Given the description of an element on the screen output the (x, y) to click on. 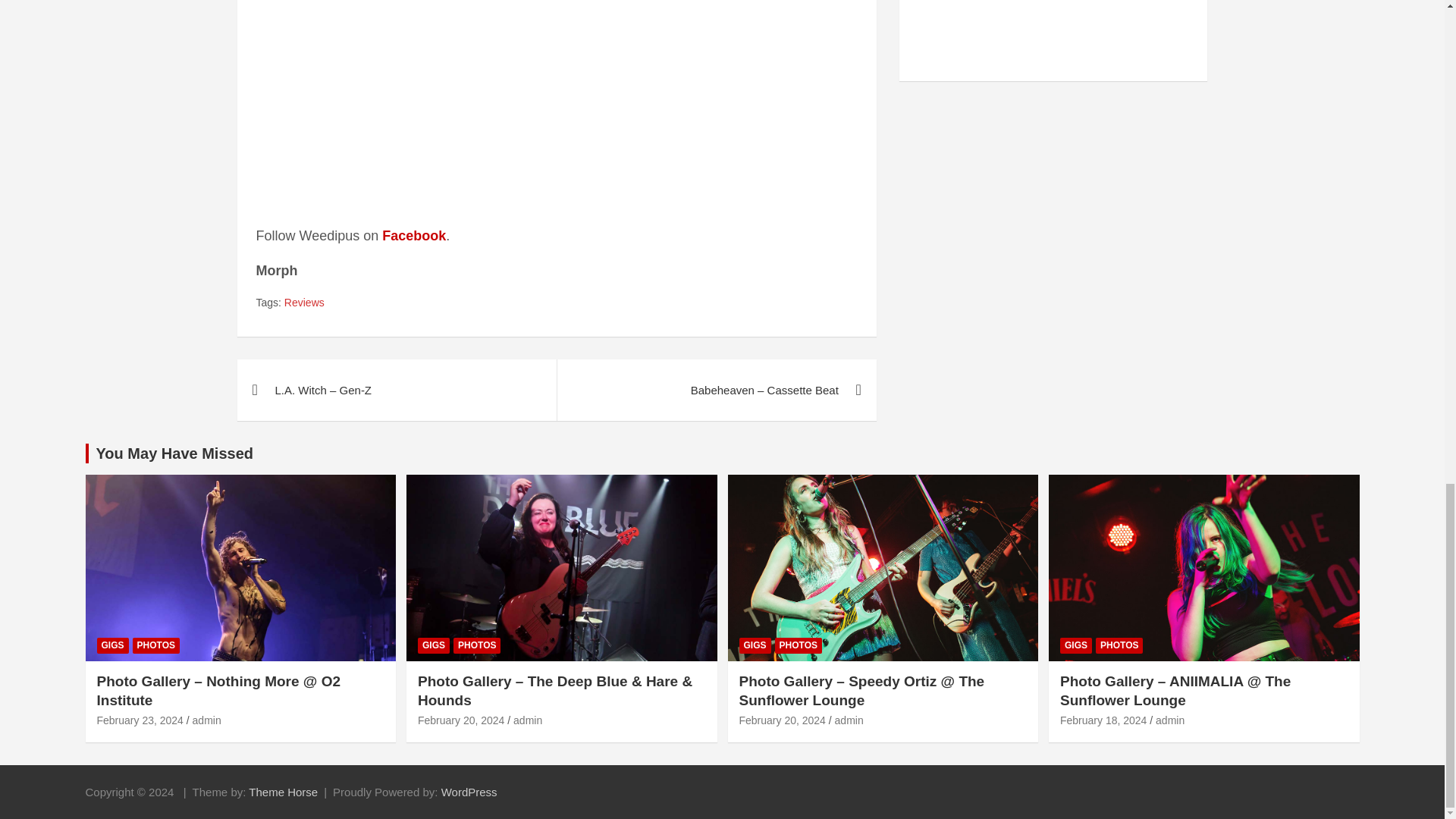
Facebook (413, 235)
Theme Horse (282, 791)
PHOTOS (155, 645)
WordPress (469, 791)
calendar (1053, 34)
admin (206, 720)
You May Have Missed (173, 453)
February 20, 2024 (460, 720)
Reviews (303, 303)
GIGS (113, 645)
PHOTOS (476, 645)
GIGS (433, 645)
Spotify Embed: Broken Boy (556, 102)
admin (527, 720)
February 23, 2024 (140, 720)
